Given the description of an element on the screen output the (x, y) to click on. 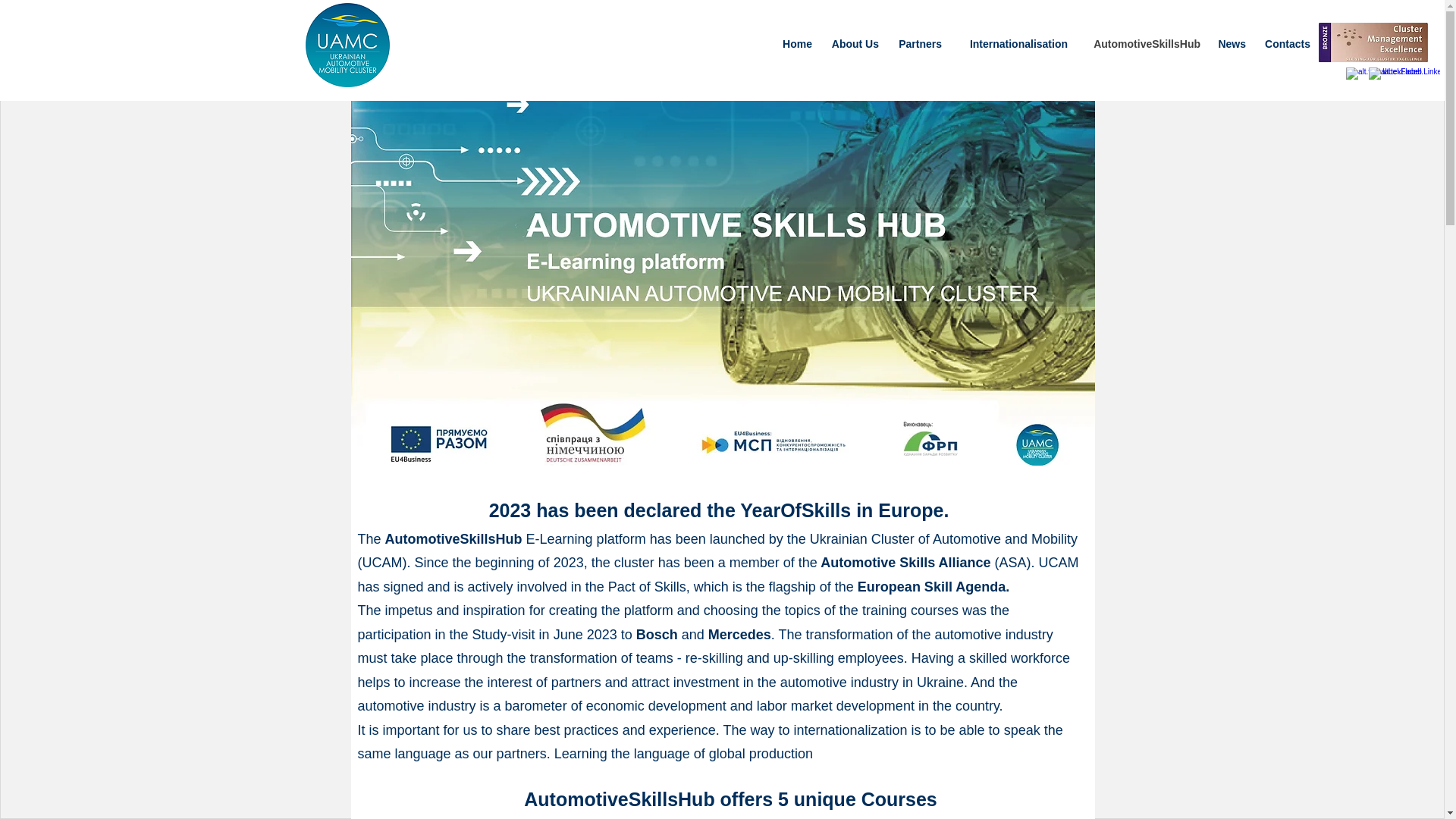
Internationalisation (1012, 43)
AutomotiveSkillsHub (1141, 43)
About Us (852, 43)
Partners (917, 43)
Home (795, 43)
News (1230, 43)
BRONZE Label.jpg (1373, 42)
Contacts (1285, 43)
